Given the description of an element on the screen output the (x, y) to click on. 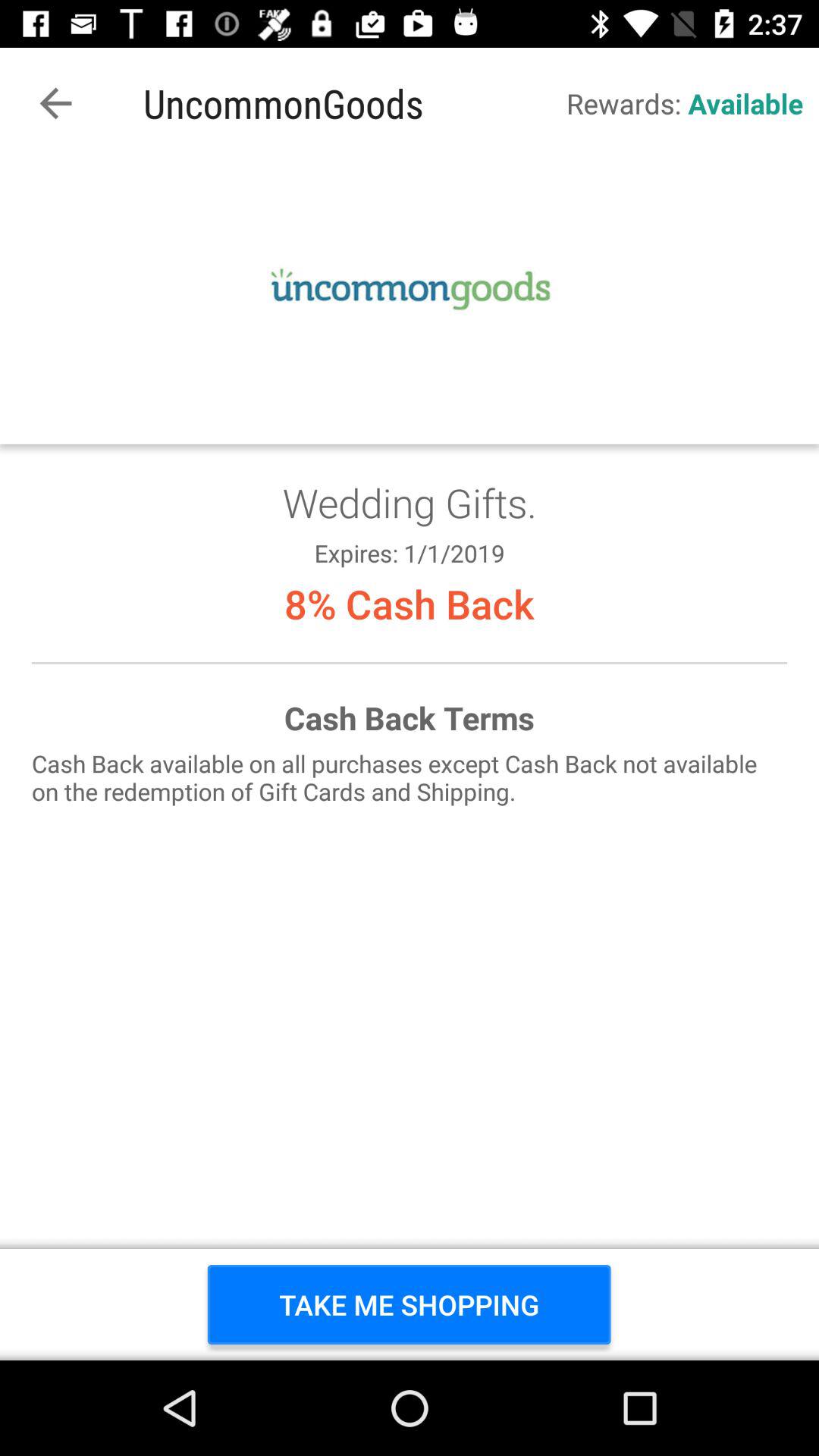
click the icon to the left of uncommongoods item (55, 103)
